Given the description of an element on the screen output the (x, y) to click on. 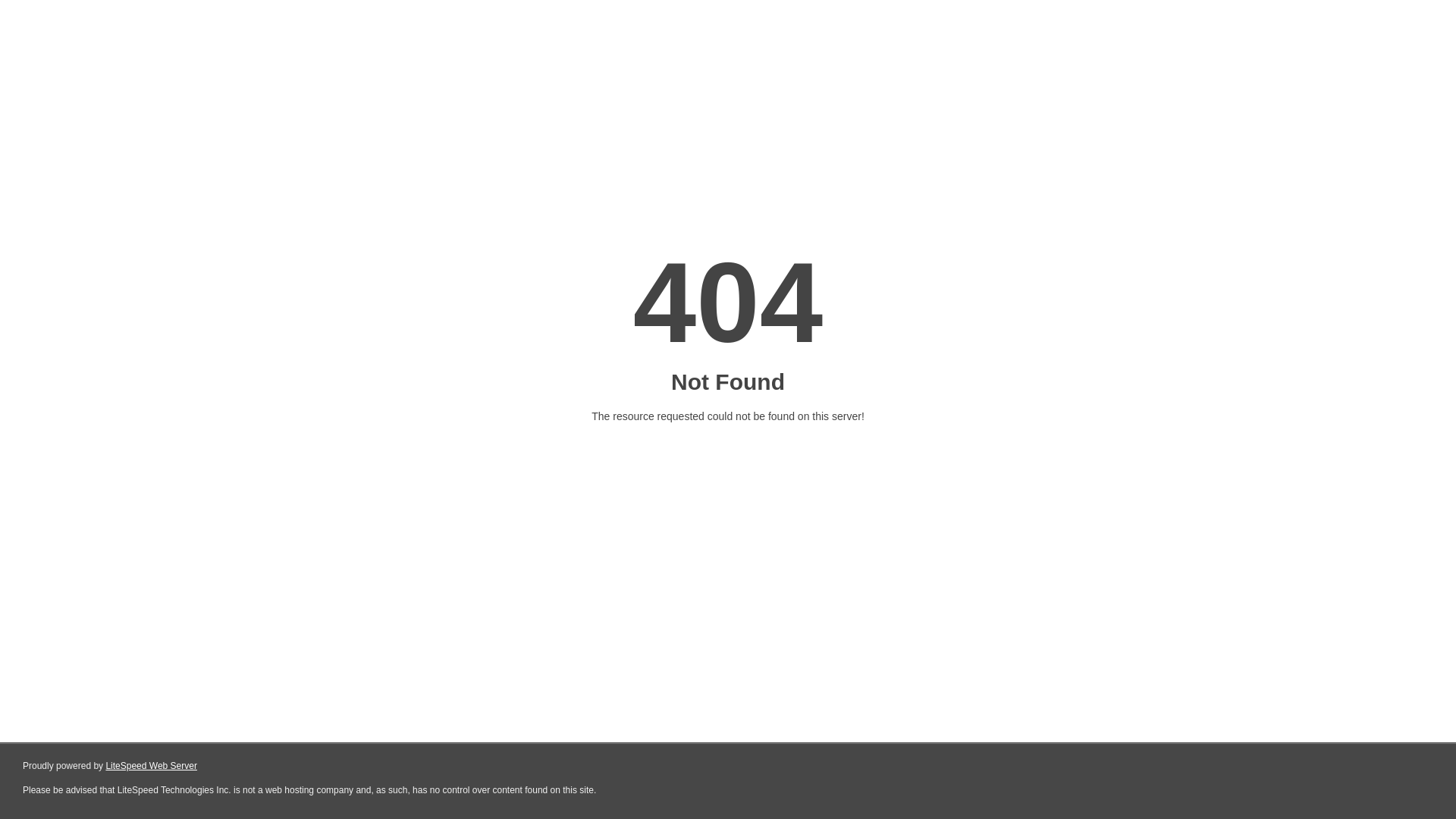
LiteSpeed Web Server Element type: text (151, 765)
